Given the description of an element on the screen output the (x, y) to click on. 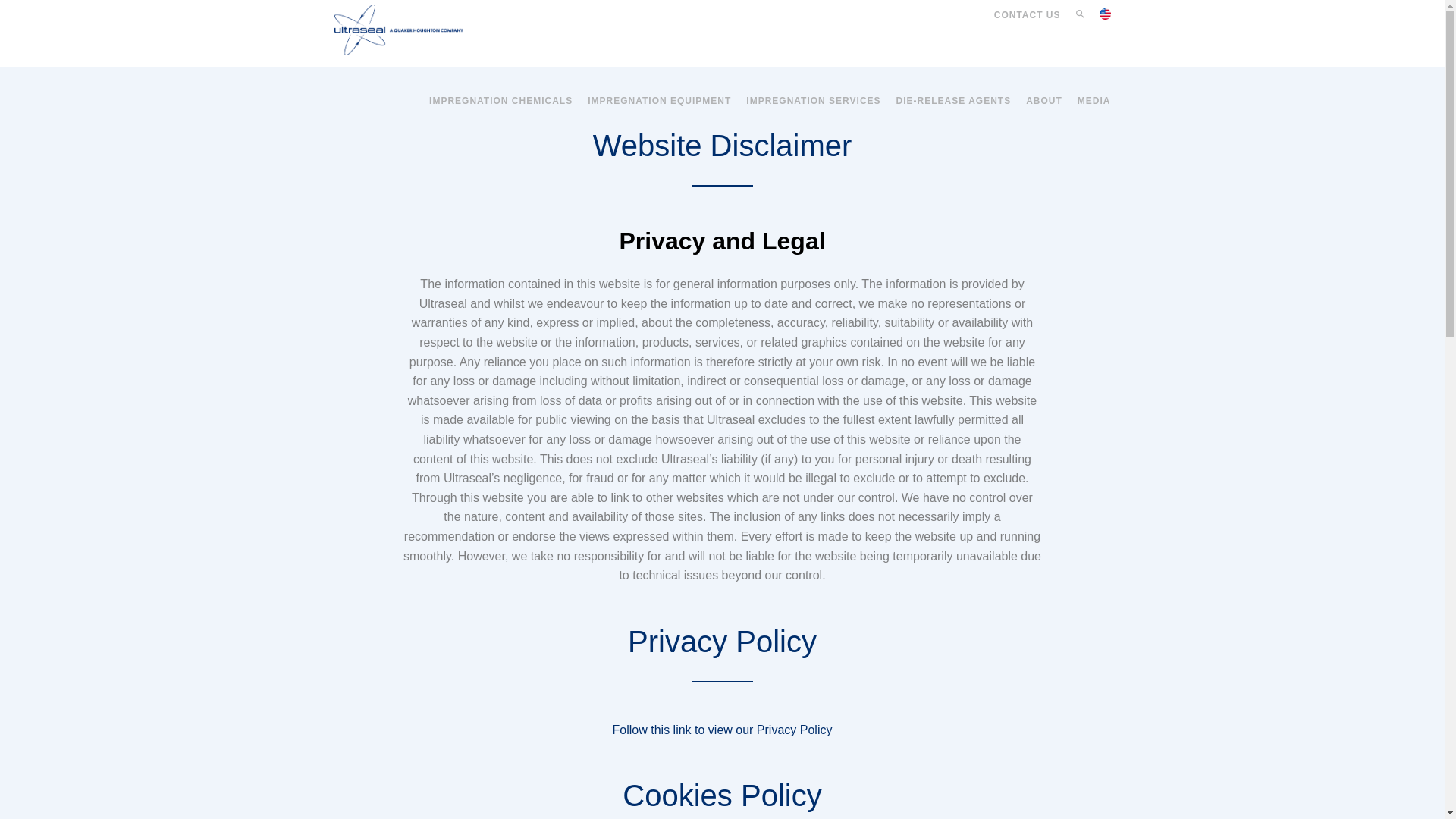
IMPREGNATION SERVICES (812, 93)
CONTACT US (1027, 15)
IMPREGNATION CHEMICALS (500, 93)
DIE-RELEASE AGENTS (953, 93)
MEDIA (1093, 93)
Follow this link to view our Privacy Policy (722, 729)
IMPREGNATION EQUIPMENT (659, 93)
ABOUT (1044, 93)
